Given the description of an element on the screen output the (x, y) to click on. 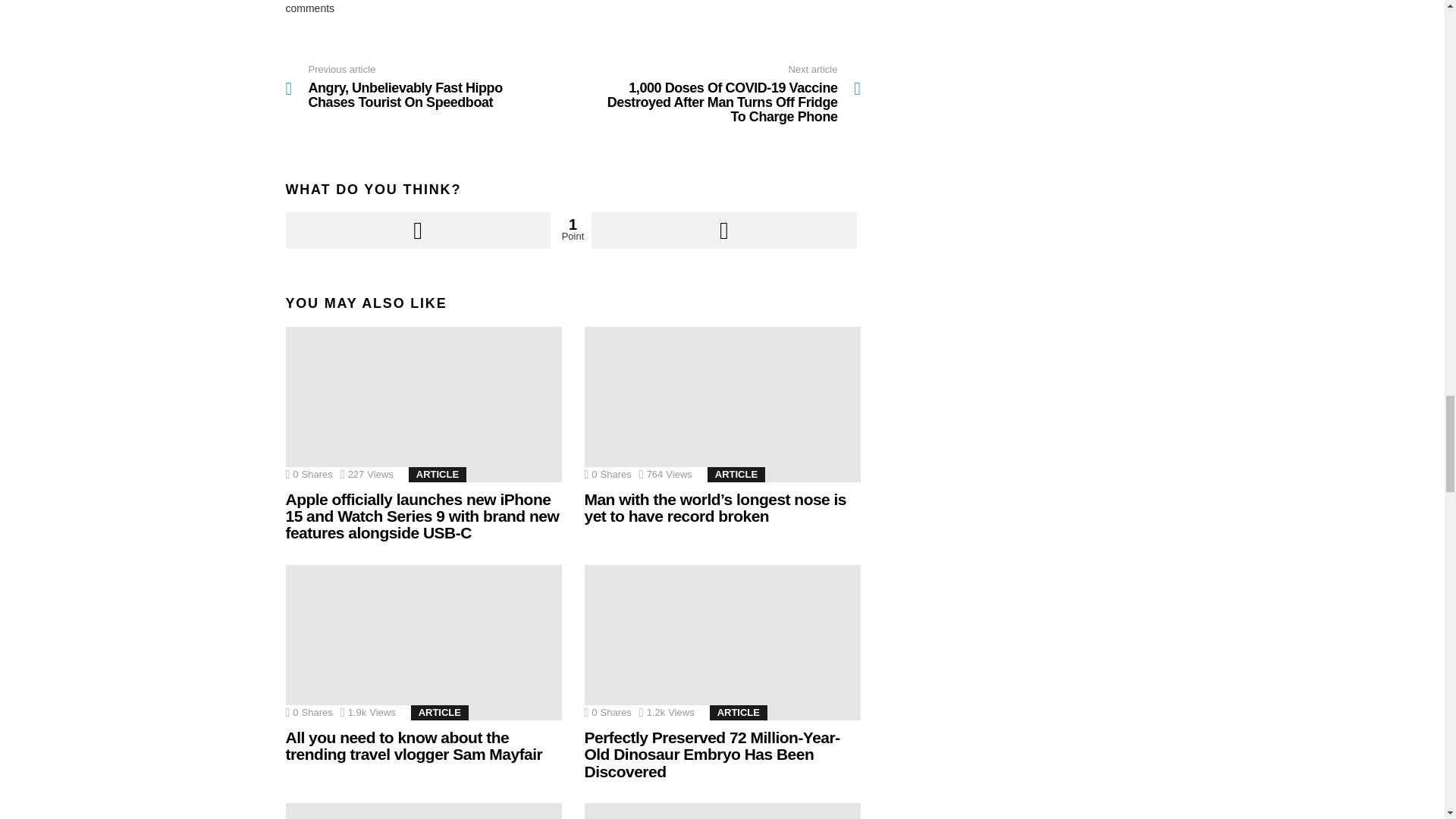
Downvote (723, 230)
Upvote (417, 230)
Upvote (417, 230)
Hairy Chest Swimsuit Is Here For The Summer (422, 811)
